Given the description of an element on the screen output the (x, y) to click on. 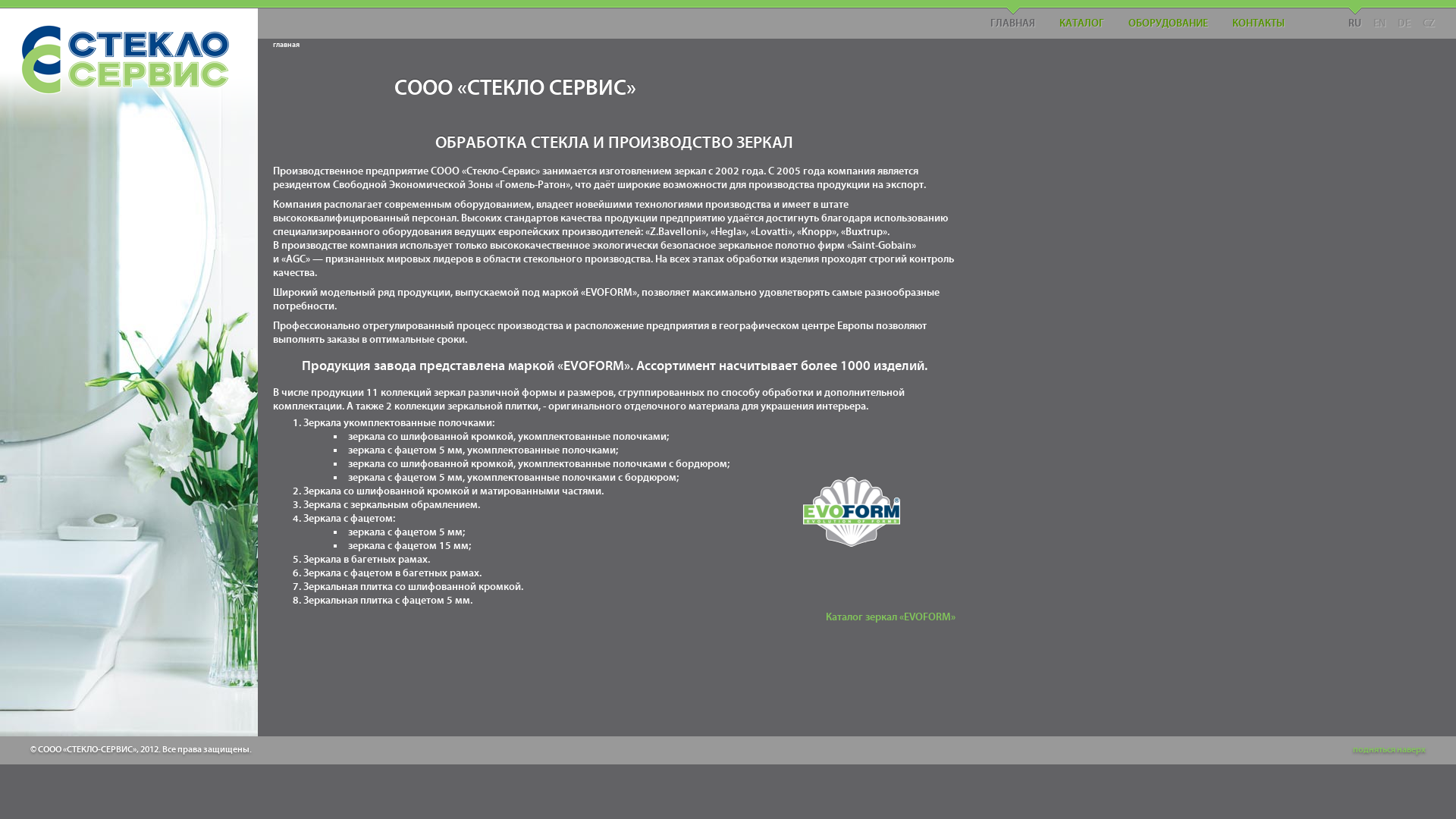
DE Element type: text (1403, 18)
EN Element type: text (1379, 18)
CZ Element type: text (1428, 18)
RU Element type: text (1354, 18)
